Given the description of an element on the screen output the (x, y) to click on. 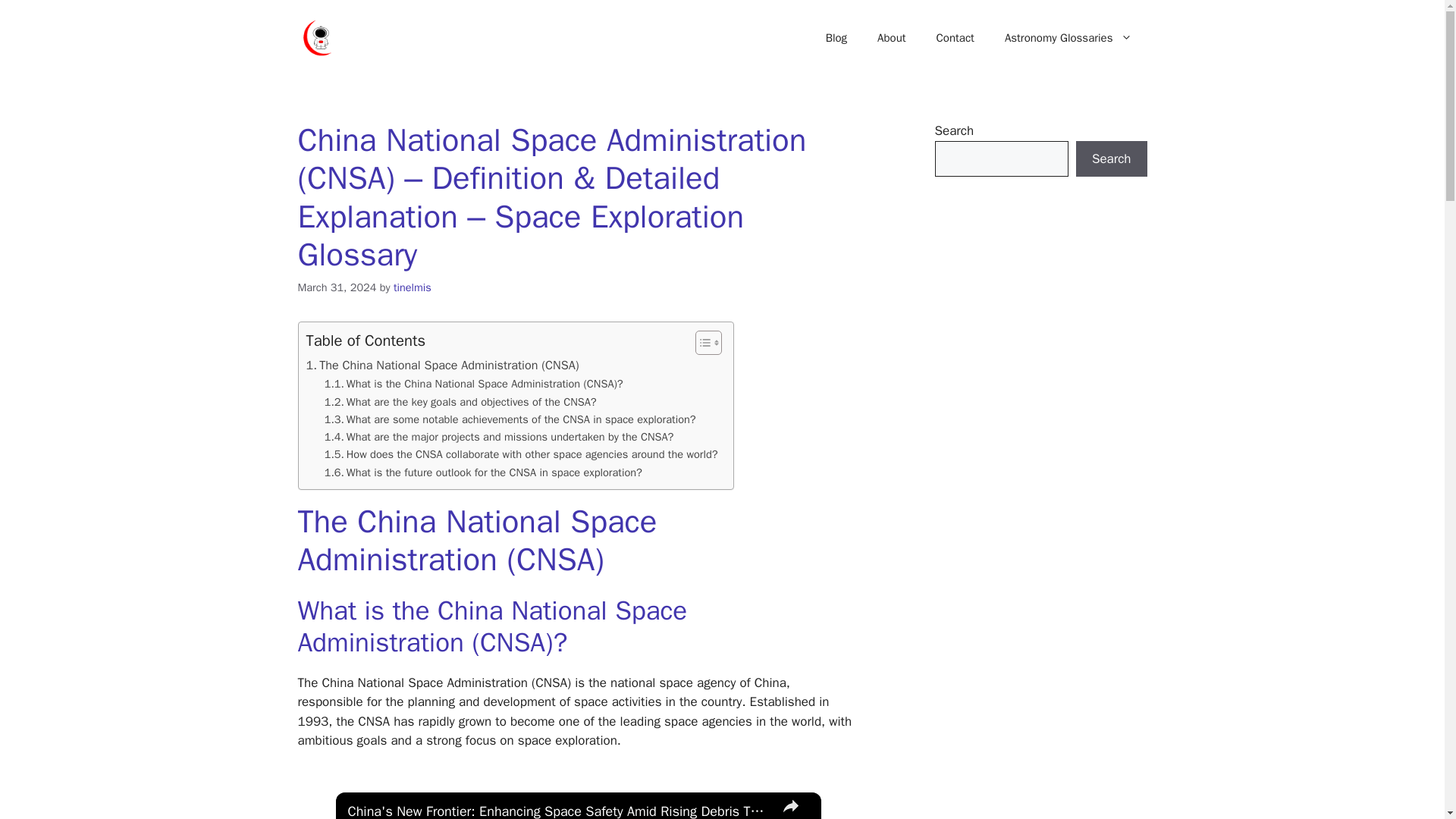
share (789, 805)
What are the key goals and objectives of the CNSA? (460, 402)
Share (789, 805)
About (890, 37)
Blog (835, 37)
Contact (955, 37)
What are the key goals and objectives of the CNSA? (460, 402)
